Given the description of an element on the screen output the (x, y) to click on. 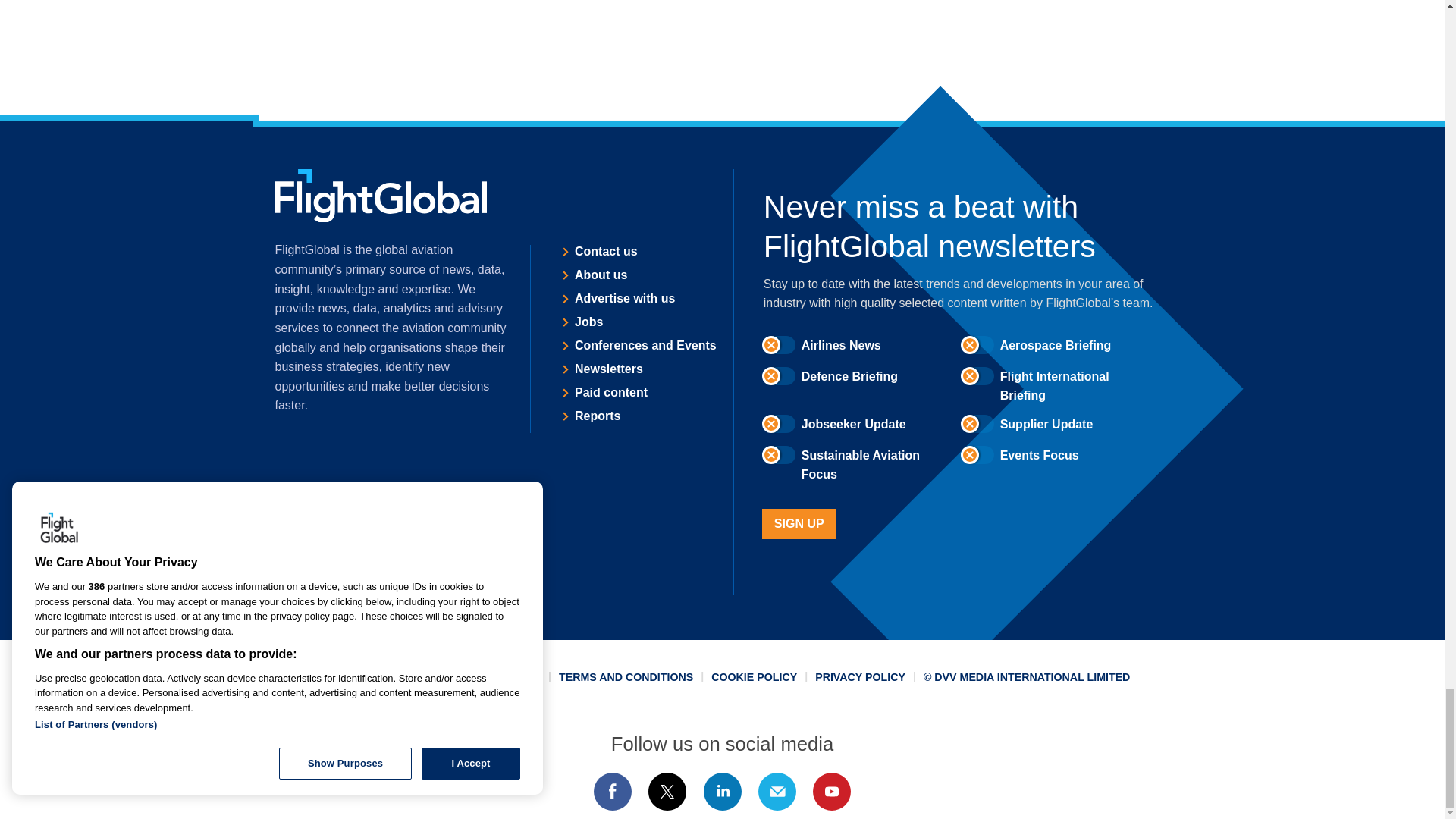
Email us (776, 791)
Connect with us on Linked In (721, 791)
Connect with us on Youtube (831, 791)
Connect with us on Facebook (611, 791)
Connect with us on Twitter (667, 791)
